Given the description of an element on the screen output the (x, y) to click on. 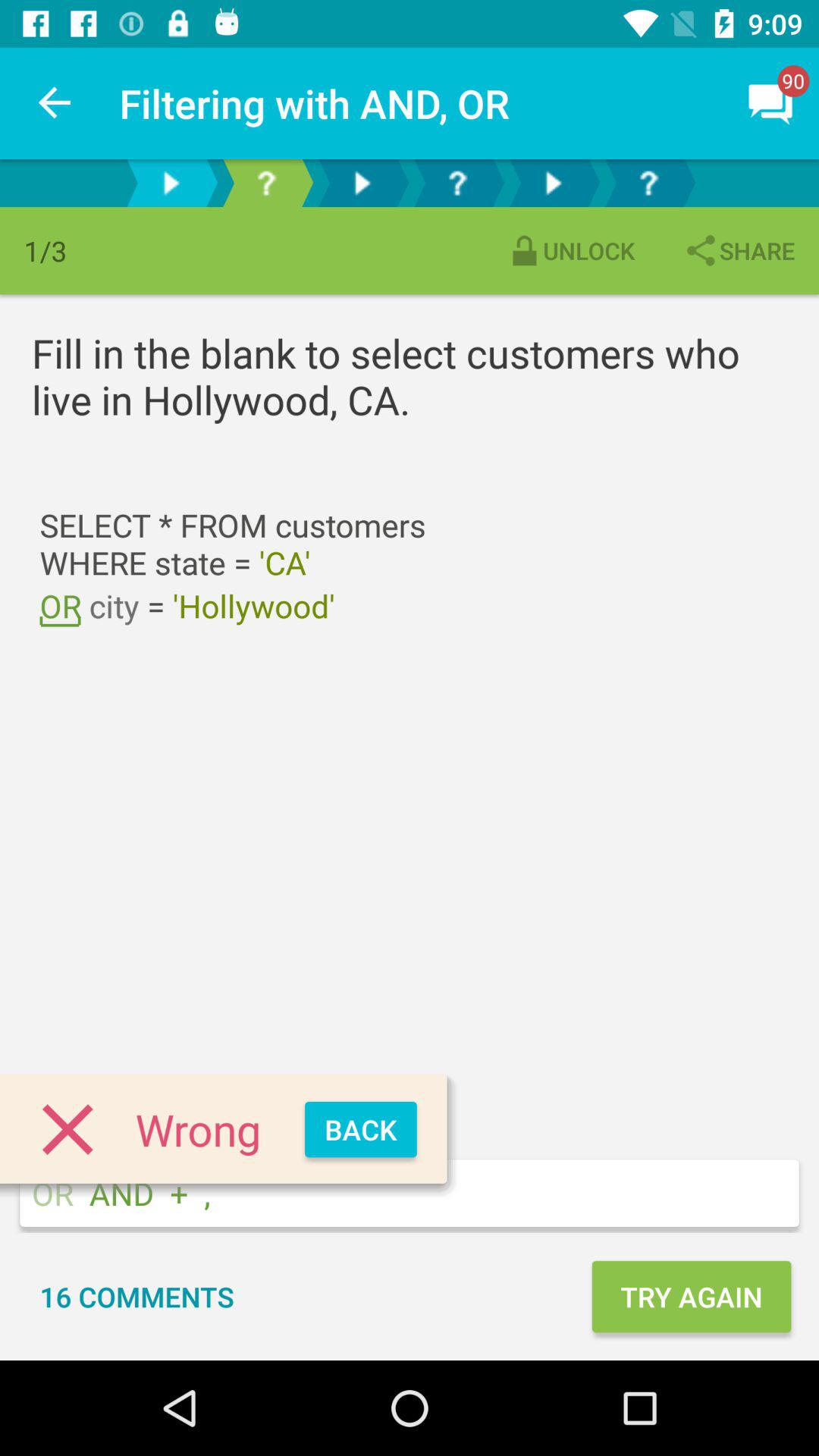
faqs (648, 183)
